Given the description of an element on the screen output the (x, y) to click on. 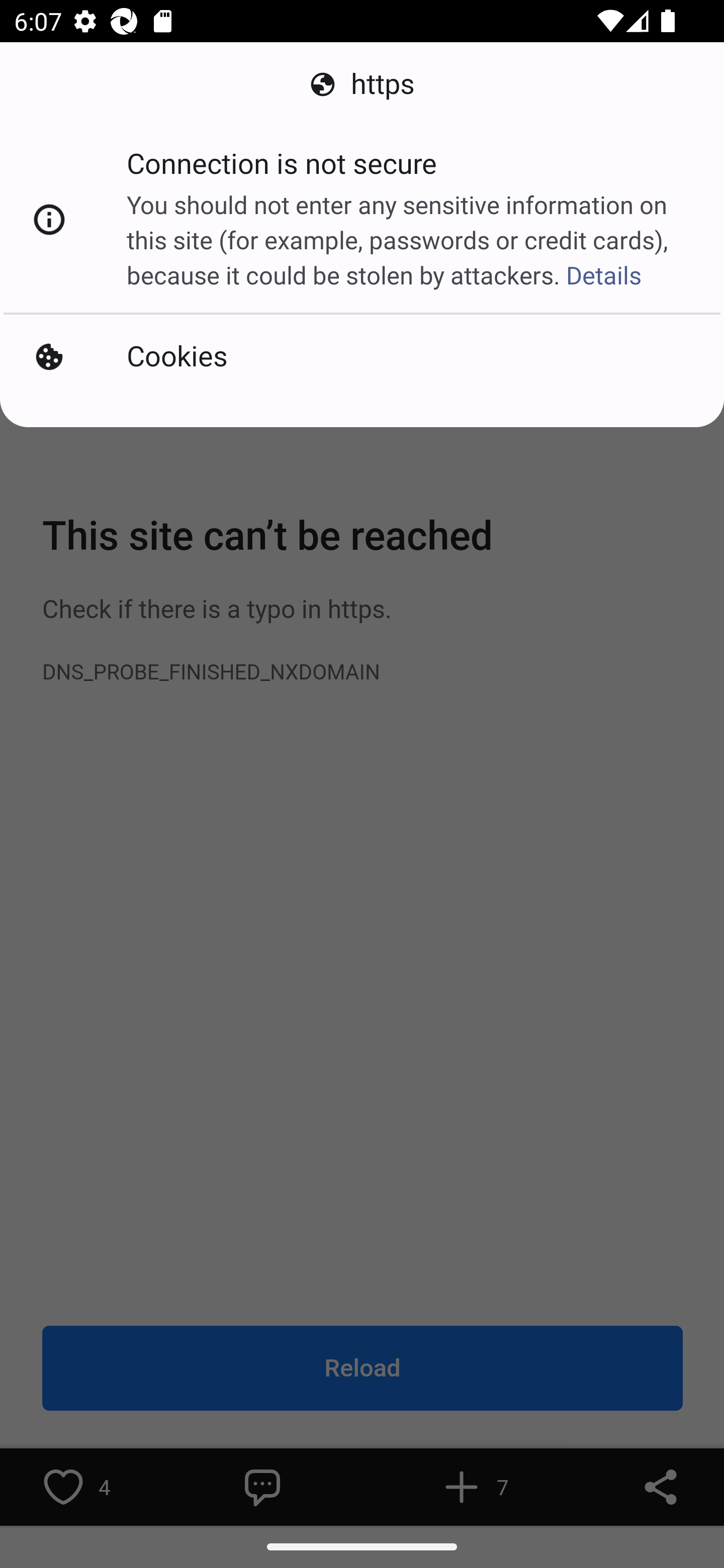
https (362, 84)
Cookies (362, 356)
